Given the description of an element on the screen output the (x, y) to click on. 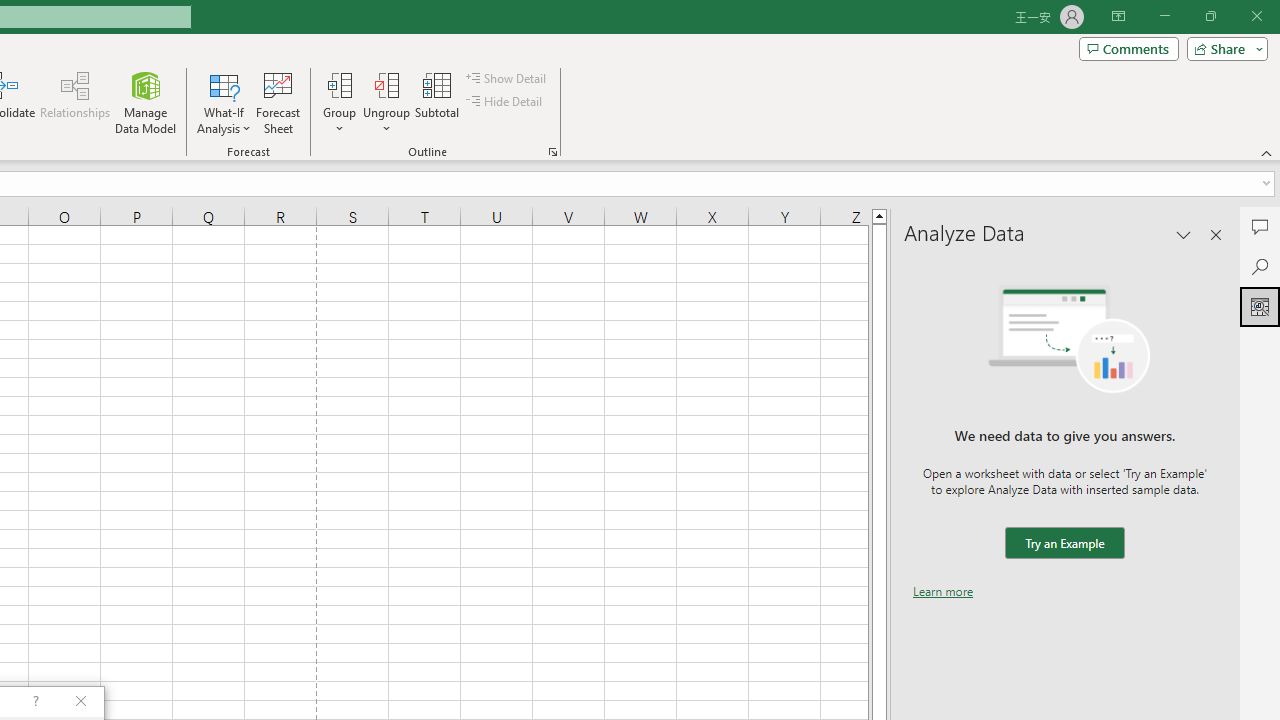
Analyze Data (1260, 306)
Learn more (943, 591)
What-If Analysis (223, 102)
Manage Data Model (145, 102)
Forecast Sheet (278, 102)
We need data to give you answers. Try an Example (1064, 543)
